Given the description of an element on the screen output the (x, y) to click on. 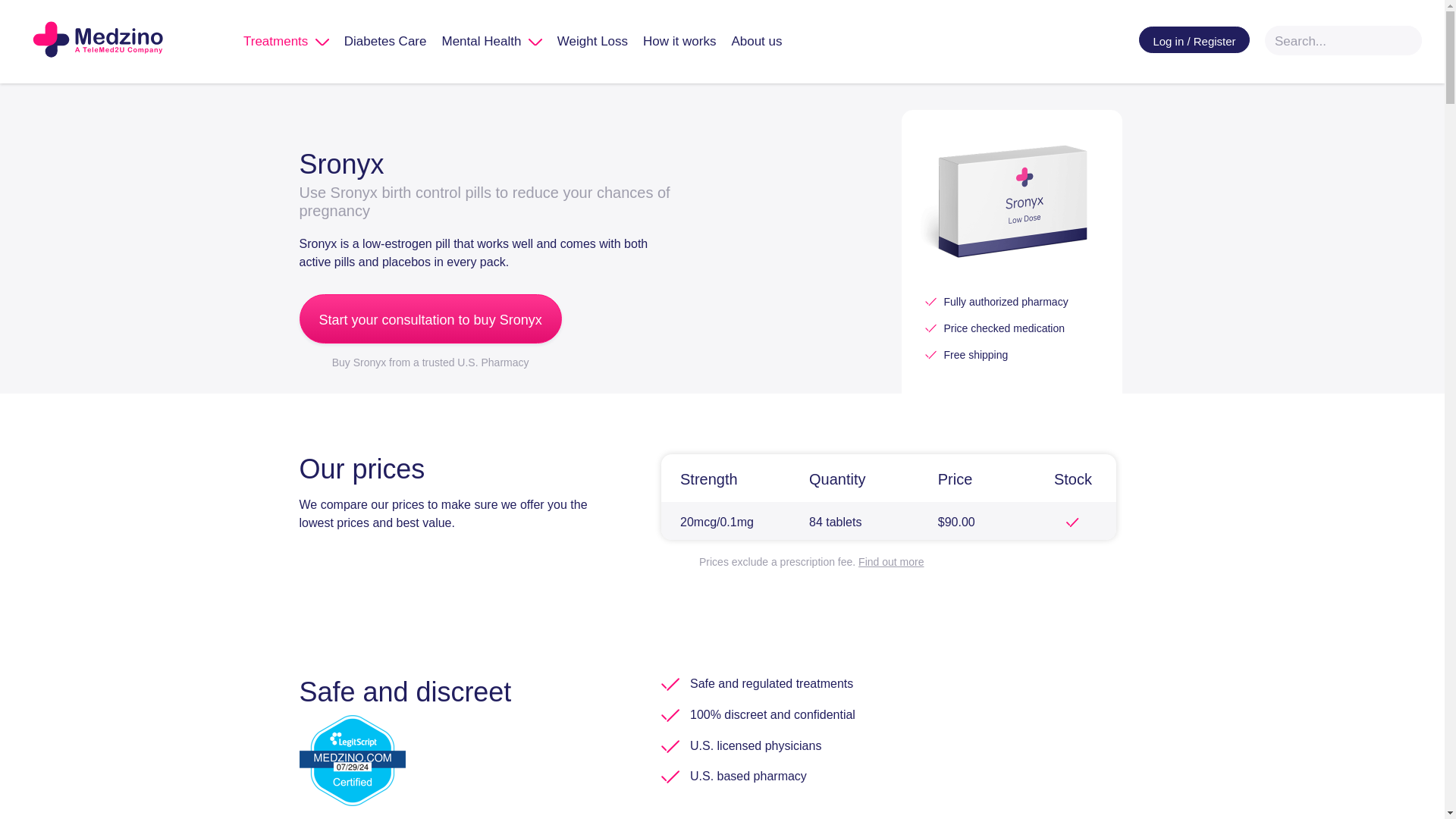
Verify LegitScript Approval (351, 758)
Treatments  (285, 41)
